Given the description of an element on the screen output the (x, y) to click on. 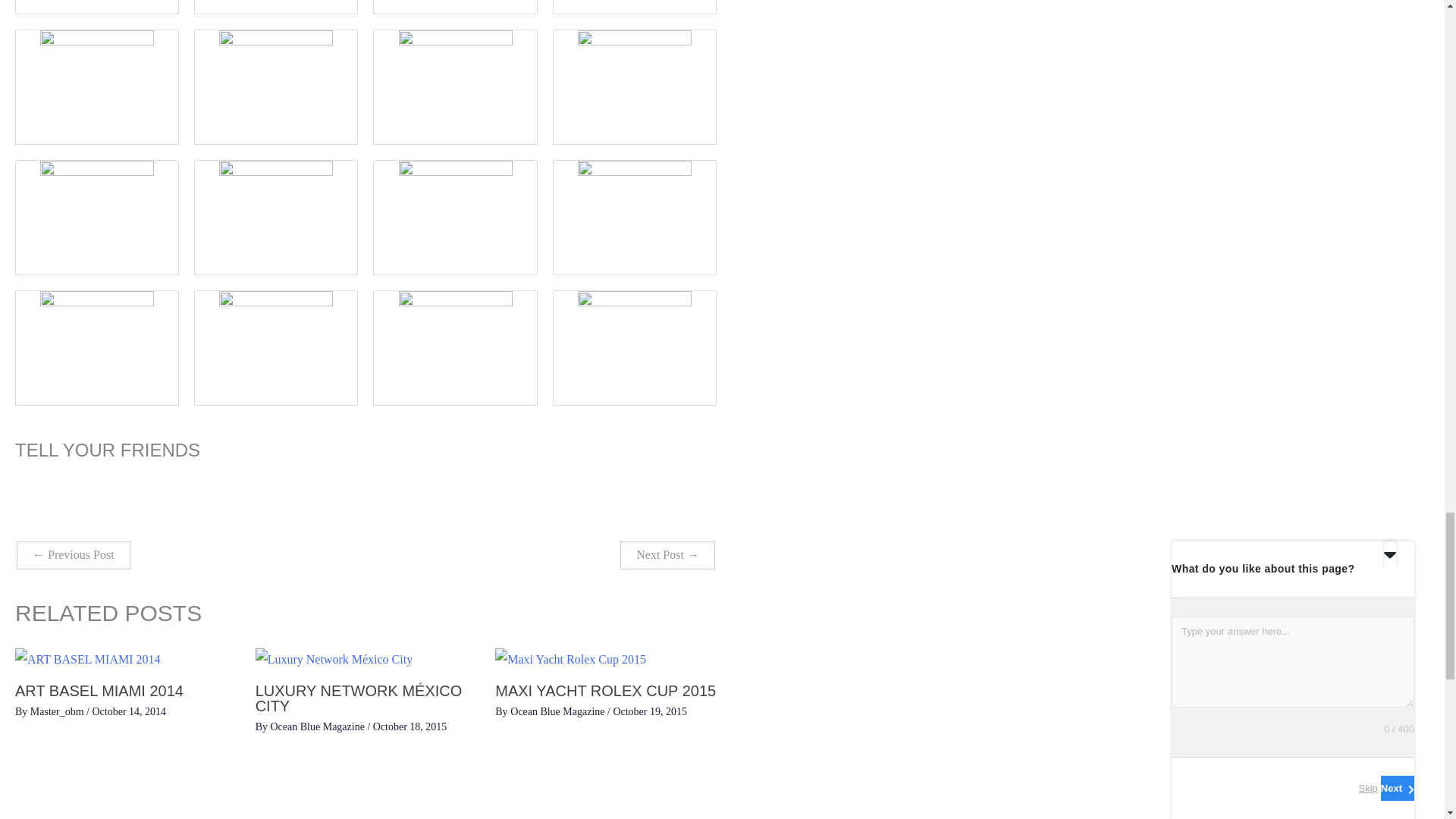
View all posts by Ocean Blue Magazine (317, 726)
View all posts by Ocean Blue Magazine (559, 711)
The Interview: Margot Robbie (73, 555)
Ocean Blue's 2018 Fall Issue Margot Robbie (667, 555)
